Given the description of an element on the screen output the (x, y) to click on. 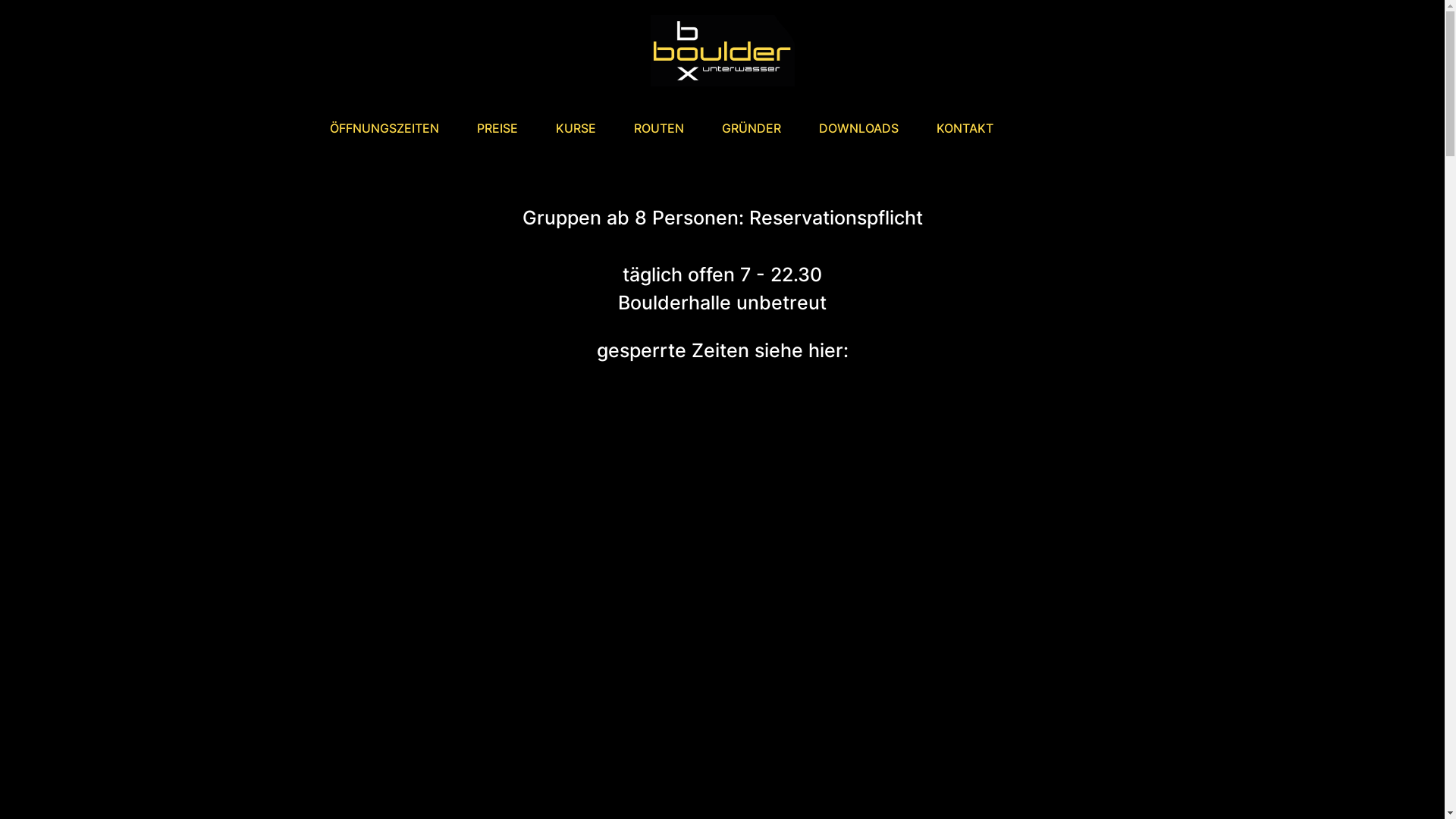
ROUTEN Element type: text (658, 128)
KURSE Element type: text (575, 128)
DOWNLOADS Element type: text (858, 128)
KONTAKT Element type: text (964, 128)
PREISE Element type: text (496, 128)
